Given the description of an element on the screen output the (x, y) to click on. 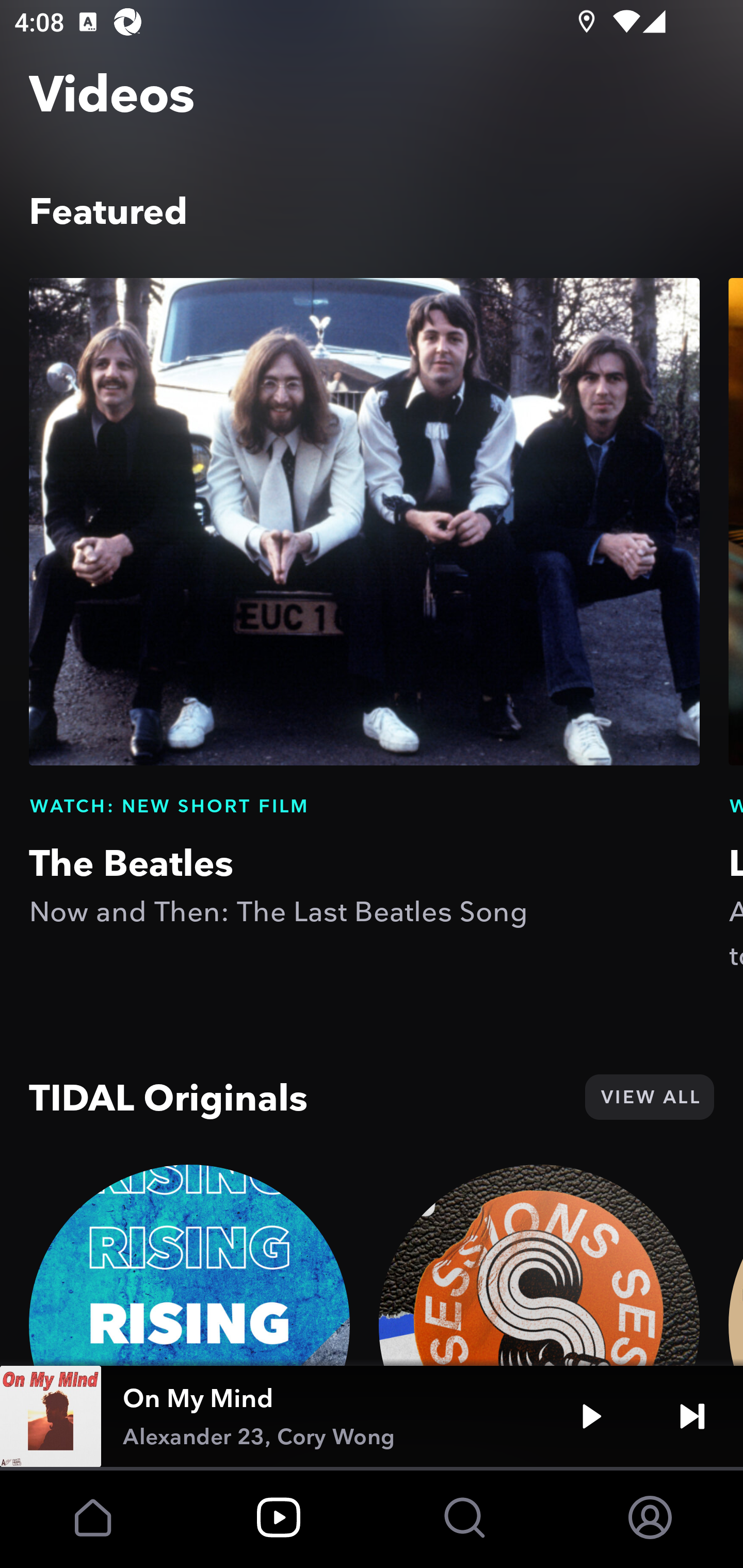
VIEW ALL (649, 1096)
On My Mind Alexander 23, Cory Wong Play (371, 1416)
Play (590, 1416)
